Given the description of an element on the screen output the (x, y) to click on. 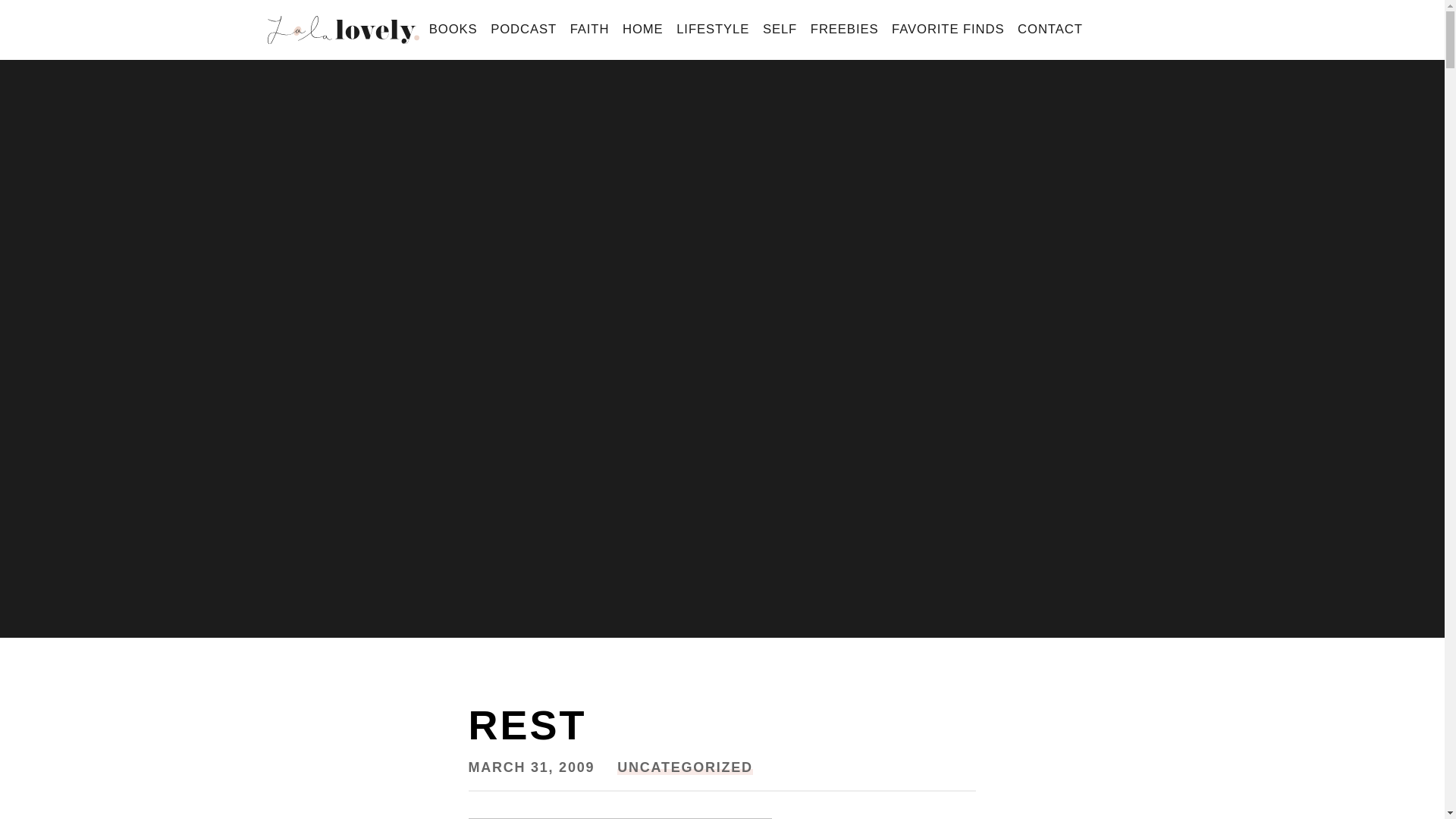
HOME (642, 29)
Search (40, 17)
LIFESTYLE (712, 29)
BOOKS (452, 29)
FAVORITE FINDS (947, 29)
PODCAST (523, 29)
FREEBIES (844, 29)
SELF (779, 29)
FAITH (589, 29)
